Given the description of an element on the screen output the (x, y) to click on. 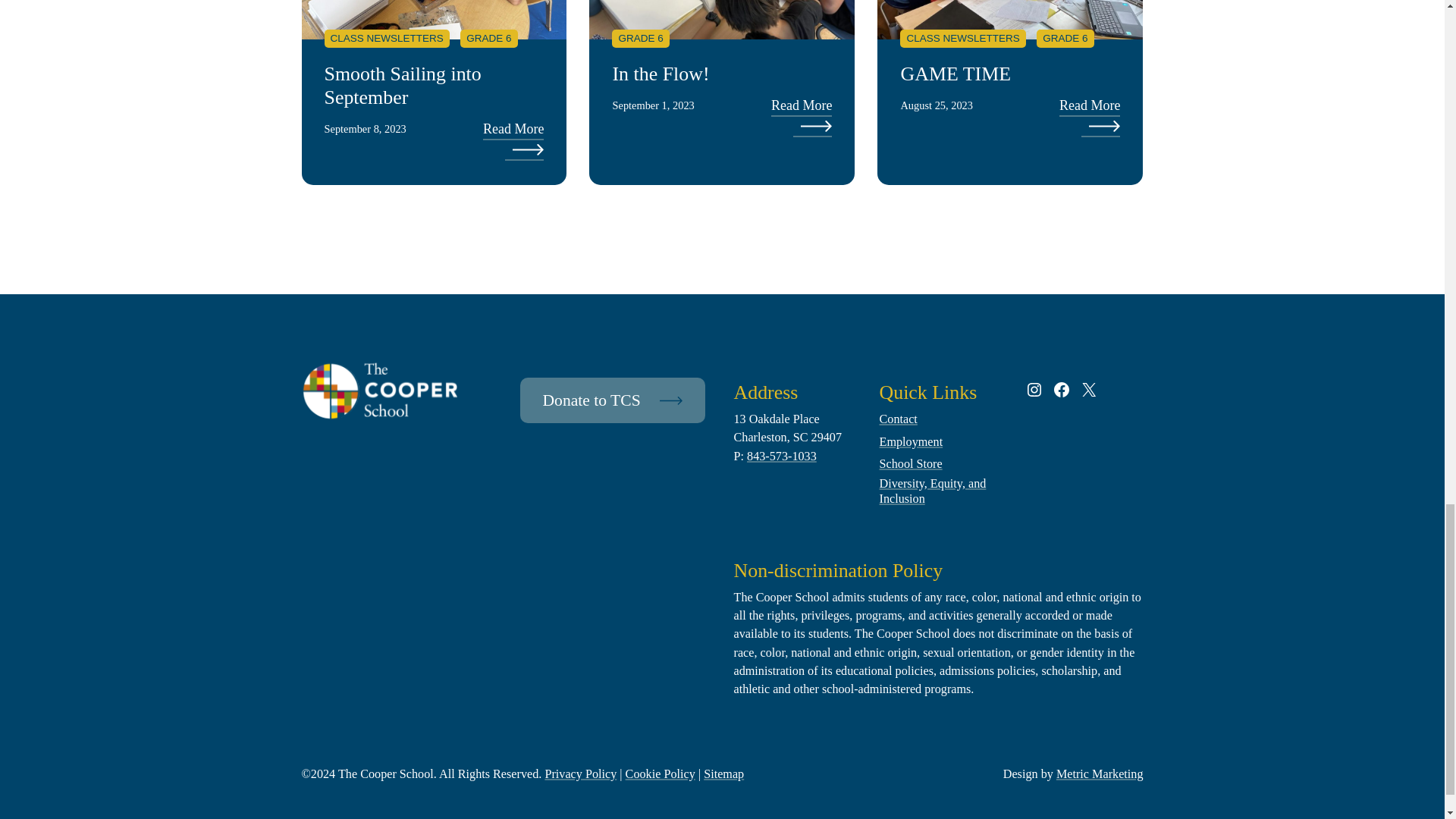
Cookie Policy  (660, 774)
Privacy Policy  (579, 774)
